Given the description of an element on the screen output the (x, y) to click on. 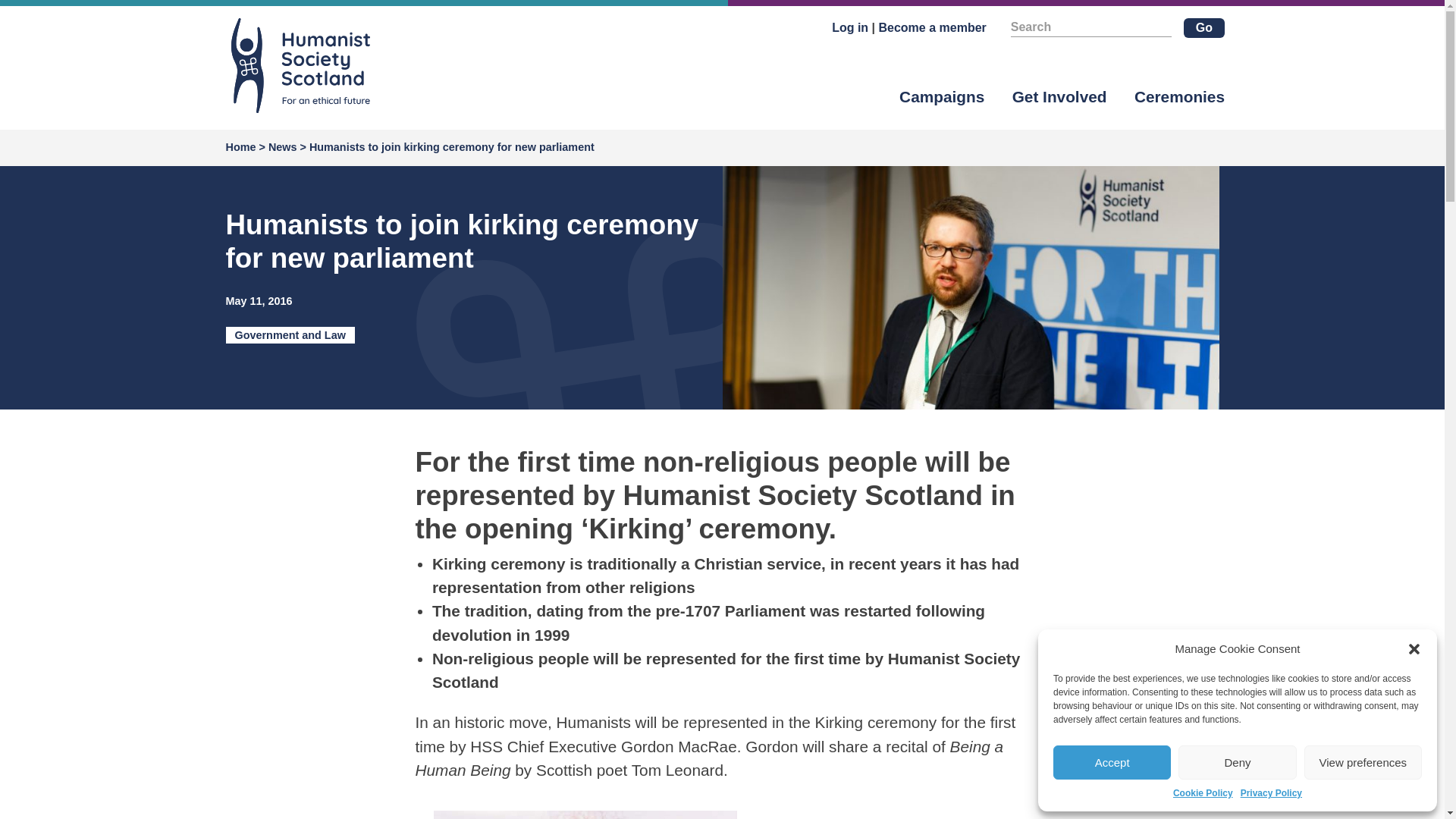
View preferences (1363, 762)
Home (242, 147)
Government and Law (290, 334)
Cookie Policy (1203, 793)
Go (1203, 27)
Ceremonies (1179, 96)
Accept (1111, 762)
Get Involved (1058, 96)
Campaigns (941, 96)
Go (1203, 27)
